Given the description of an element on the screen output the (x, y) to click on. 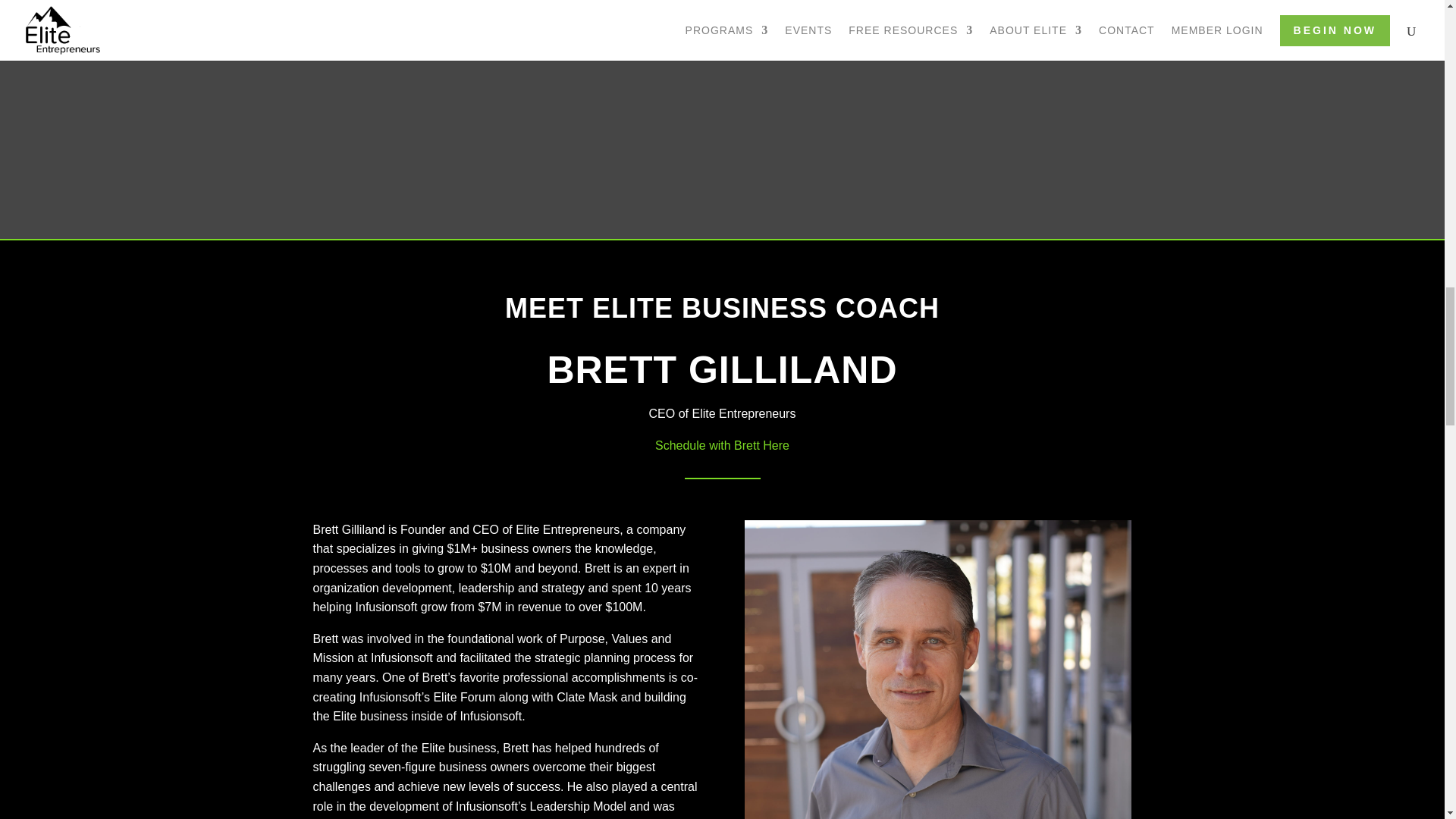
Schedule with Brett Here (722, 445)
Brett Headshot (937, 669)
